Given the description of an element on the screen output the (x, y) to click on. 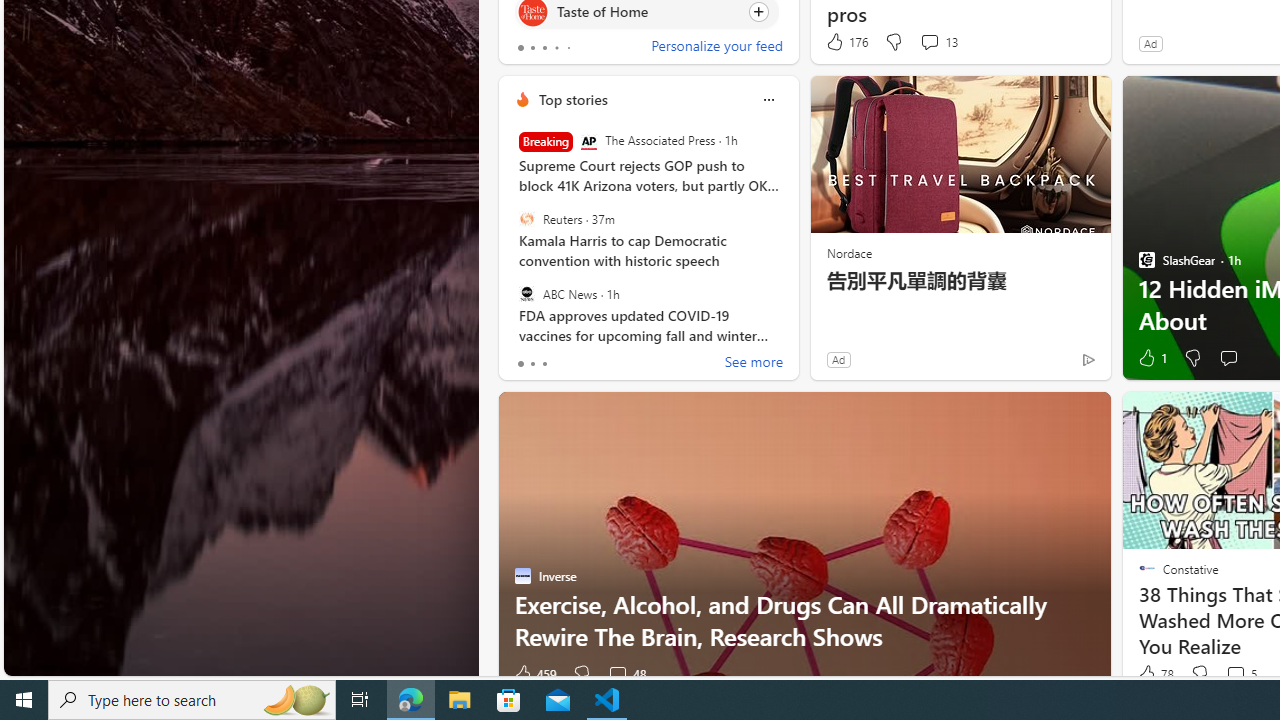
1 Like (1151, 358)
View comments 5 Comment (1234, 673)
The Associated Press (587, 142)
View comments 48 Comment (626, 674)
Class: icon-img (768, 100)
View comments 13 Comment (938, 42)
tab-4 (567, 47)
tab-3 (556, 47)
ABC News (526, 293)
459 Like (534, 674)
